Given the description of an element on the screen output the (x, y) to click on. 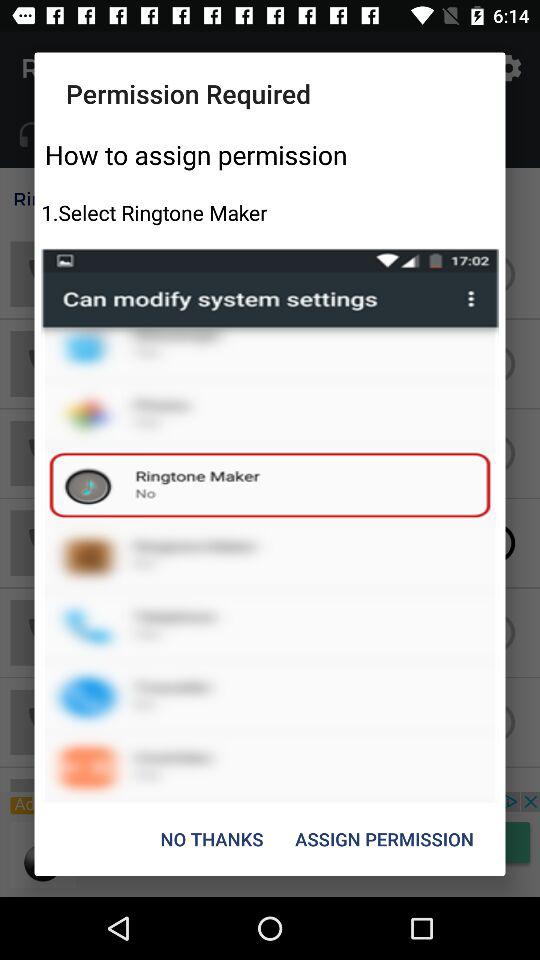
turn off icon next to the assign permission item (211, 838)
